Given the description of an element on the screen output the (x, y) to click on. 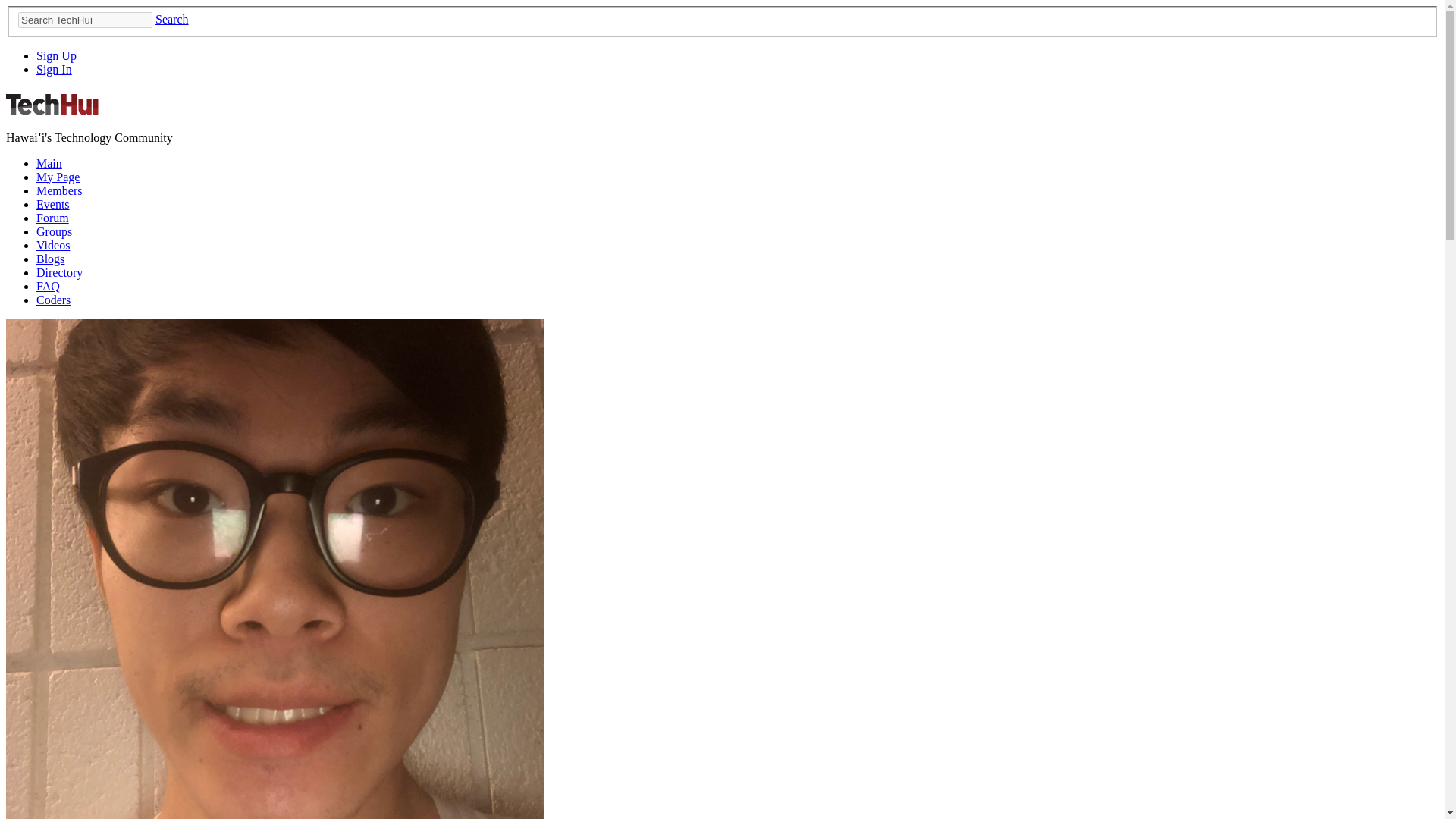
My Page (58, 176)
Directory (59, 272)
FAQ (47, 286)
Coders (52, 299)
Forum (52, 217)
Events (52, 204)
Search TechHui (84, 19)
Search (172, 19)
Sign In (53, 69)
Videos (52, 245)
Search TechHui (84, 19)
Members (58, 190)
Main (49, 163)
Blogs (50, 258)
Groups (53, 231)
